Given the description of an element on the screen output the (x, y) to click on. 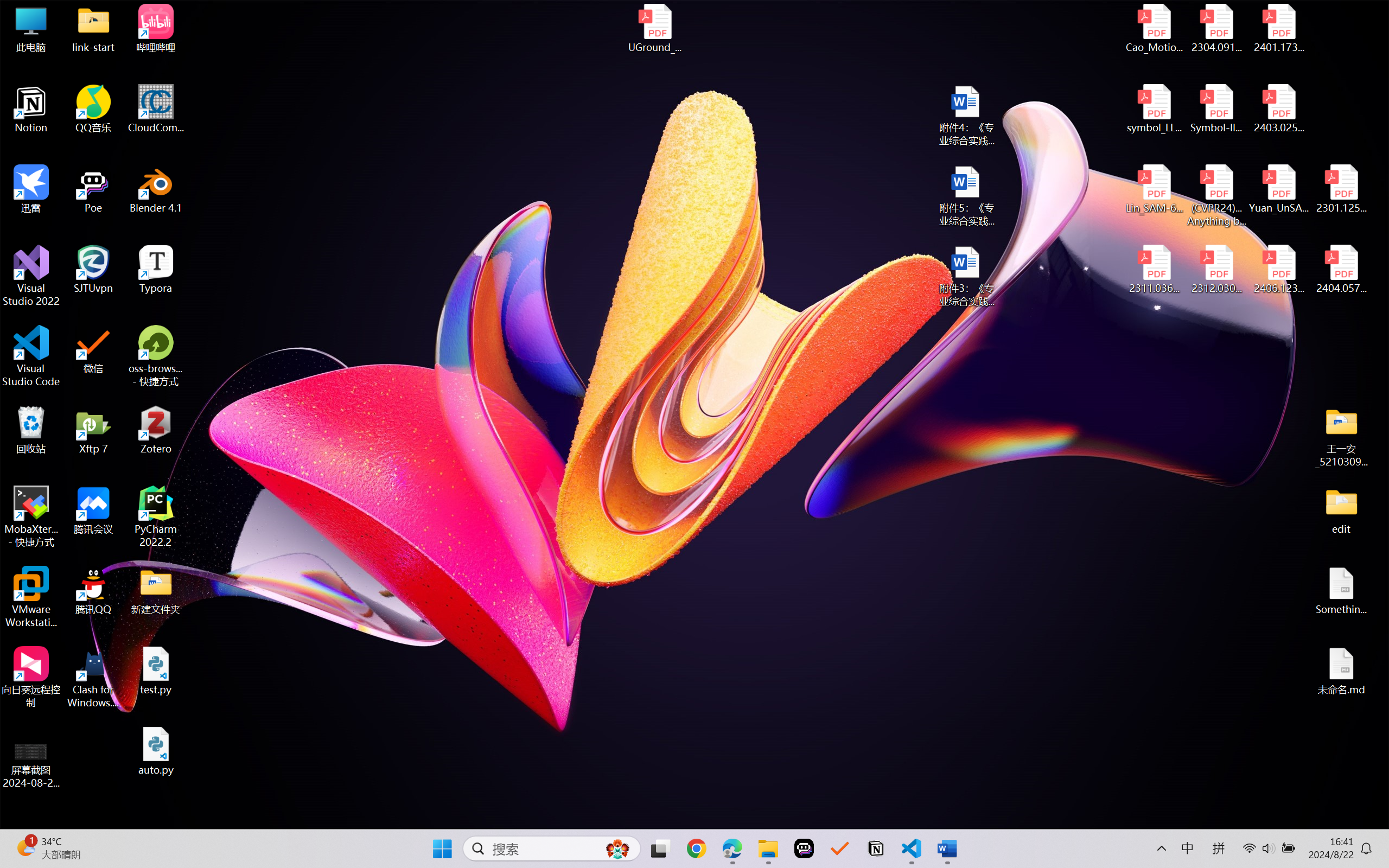
Blender 4.1 (156, 189)
Google Chrome (696, 848)
(CVPR24)Matching Anything by Segmenting Anything.pdf (1216, 195)
CloudCompare (156, 109)
Visual Studio 2022 (31, 276)
